Given the description of an element on the screen output the (x, y) to click on. 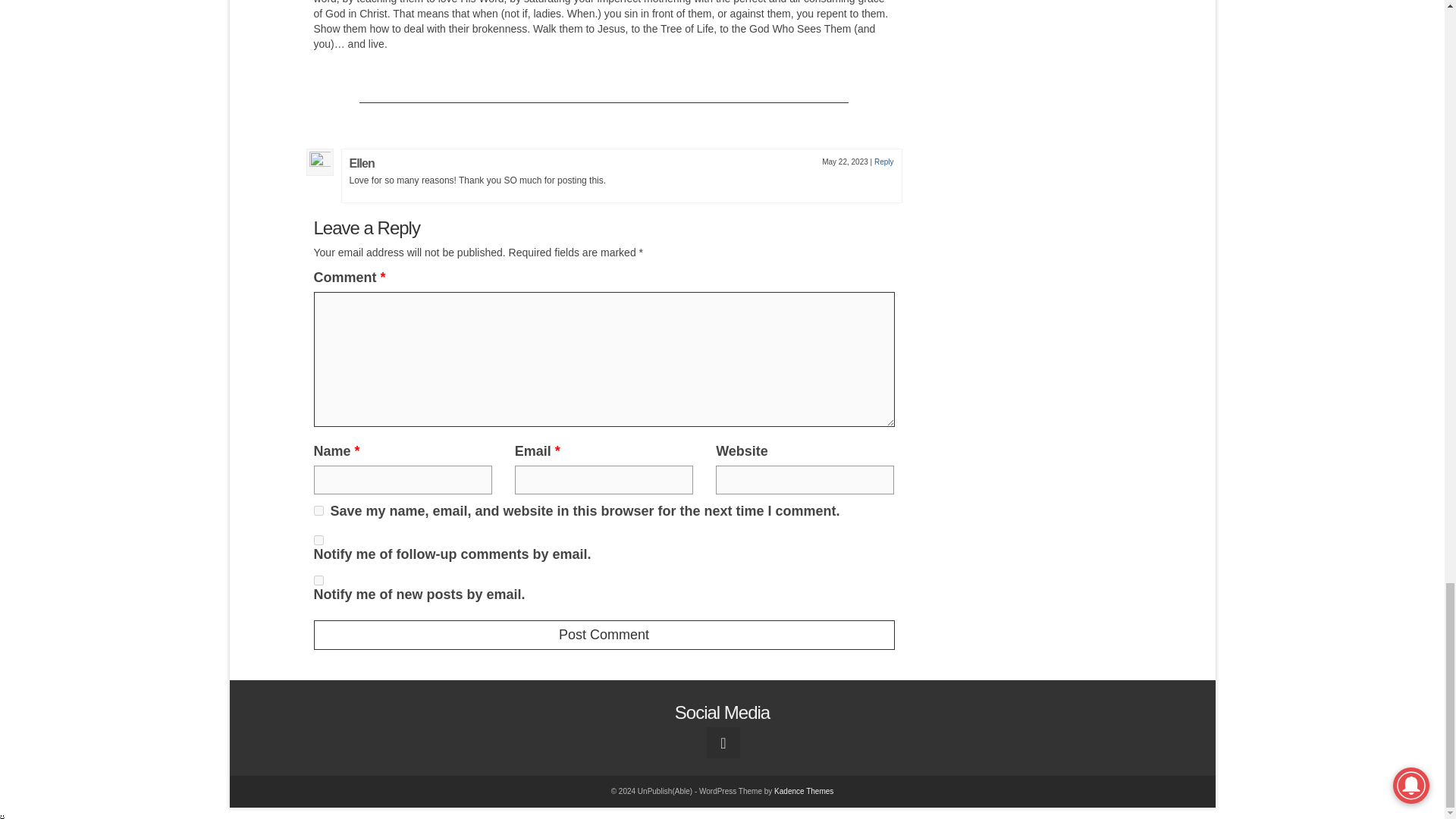
subscribe (318, 540)
Reply (884, 162)
Post Comment (604, 634)
yes (318, 510)
Post Comment (604, 634)
subscribe (318, 580)
Kadence Themes (803, 791)
